Given the description of an element on the screen output the (x, y) to click on. 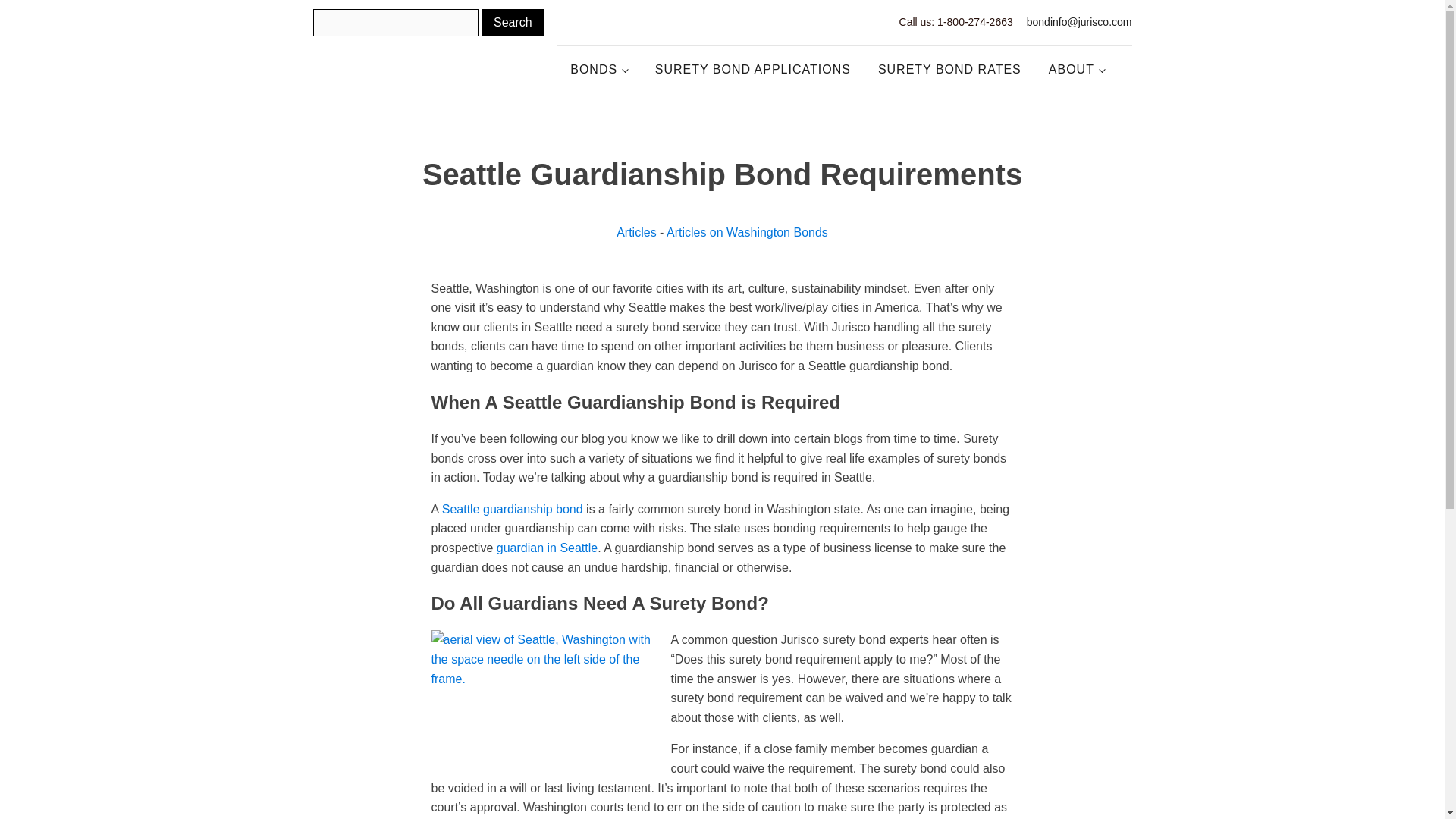
Seattle guardianship bond (512, 508)
Call us: 1-800-274-2663 (956, 22)
BONDS (599, 69)
Search (512, 22)
ABOUT (1076, 69)
Articles on Washington Bonds (747, 232)
SURETY BOND APPLICATIONS (753, 69)
Search (512, 22)
Articles (635, 232)
SURETY BOND RATES (949, 69)
guardian in Seattle (546, 547)
